Given the description of an element on the screen output the (x, y) to click on. 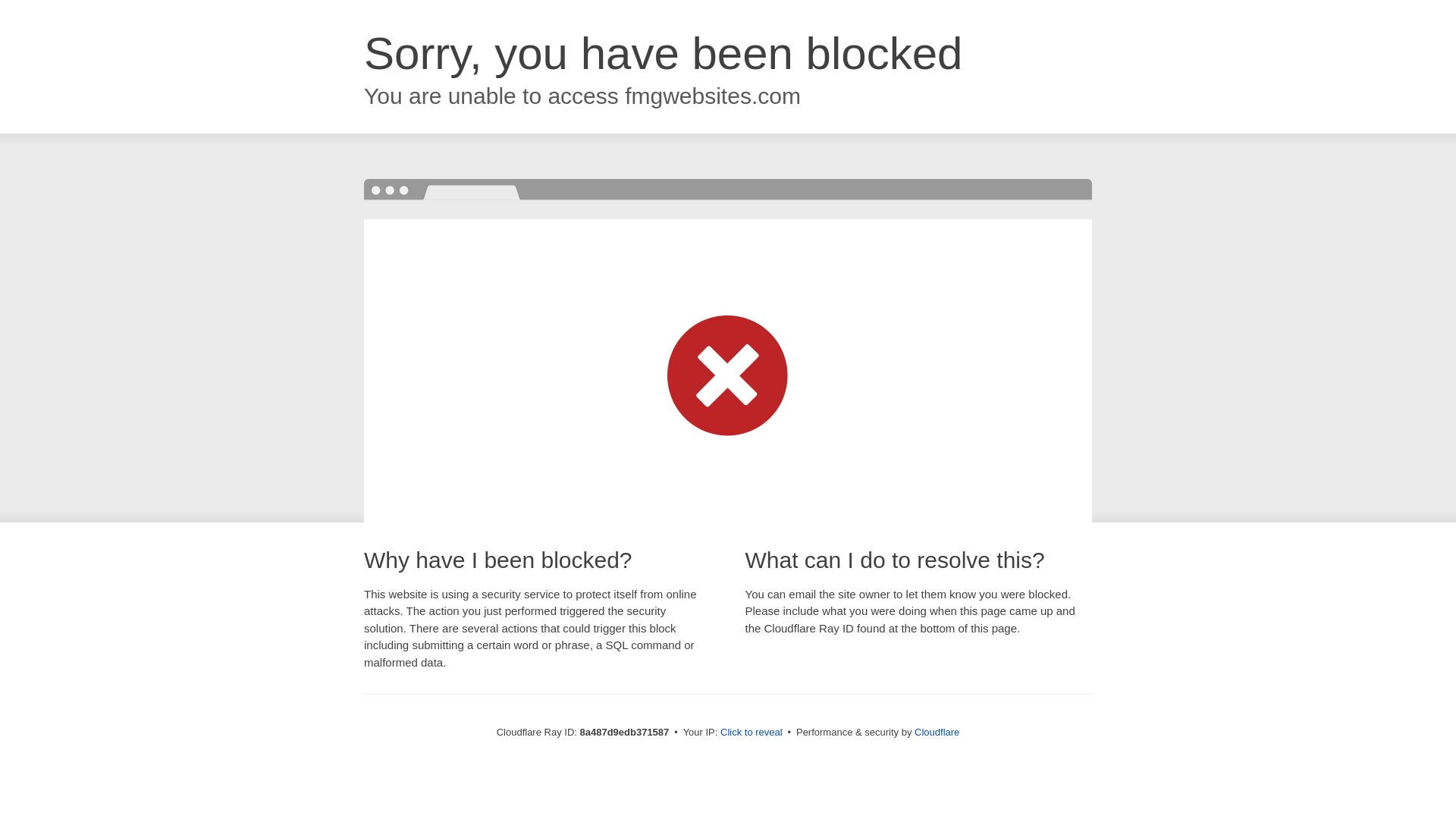
Cloudflare (936, 731)
Click to reveal (751, 732)
